Given the description of an element on the screen output the (x, y) to click on. 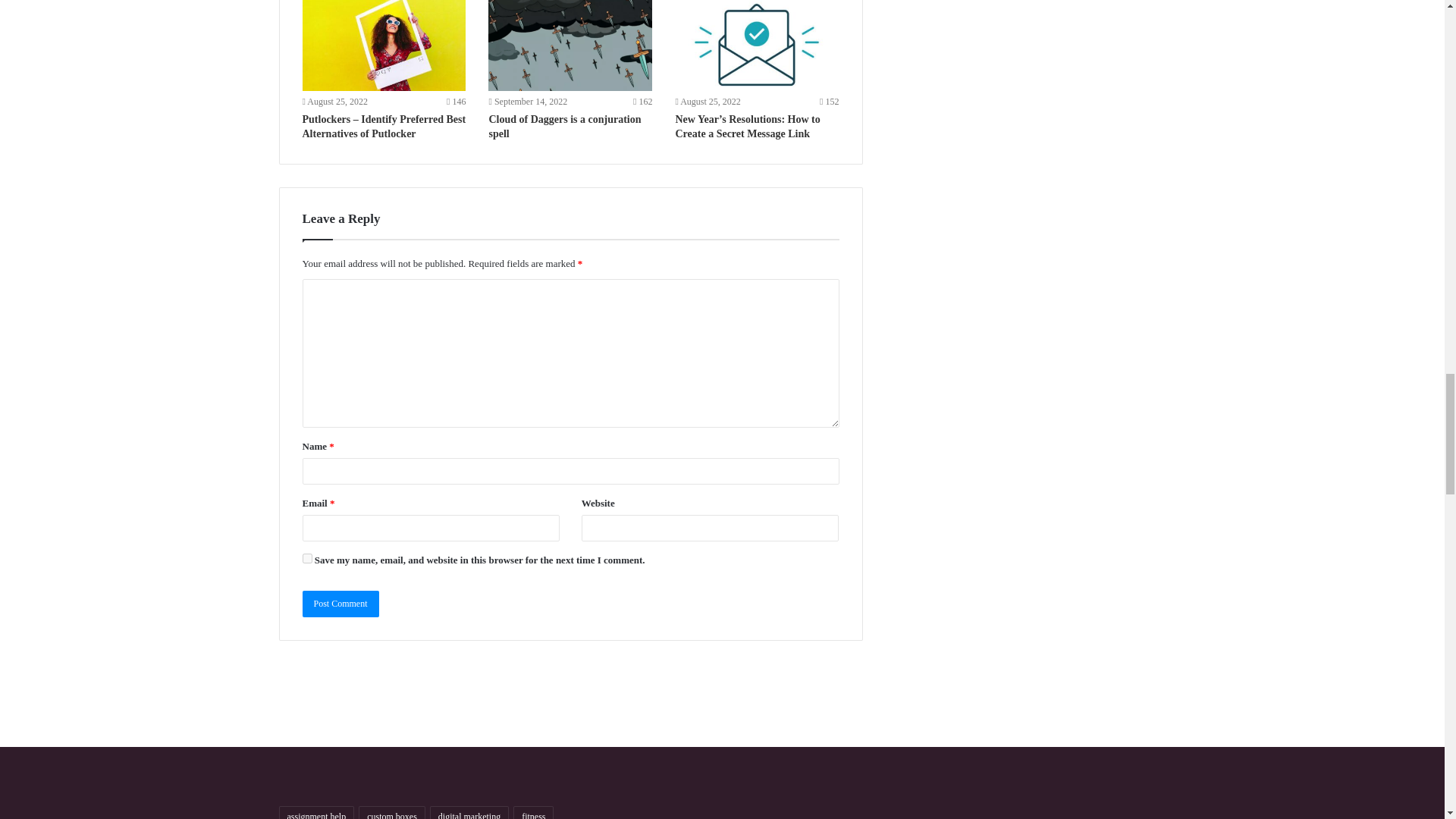
Cloud of Daggers is a conjuration spell (563, 126)
yes (306, 558)
Post Comment (339, 603)
Cloud of Daggers is a conjuration spell (569, 45)
